Given the description of an element on the screen output the (x, y) to click on. 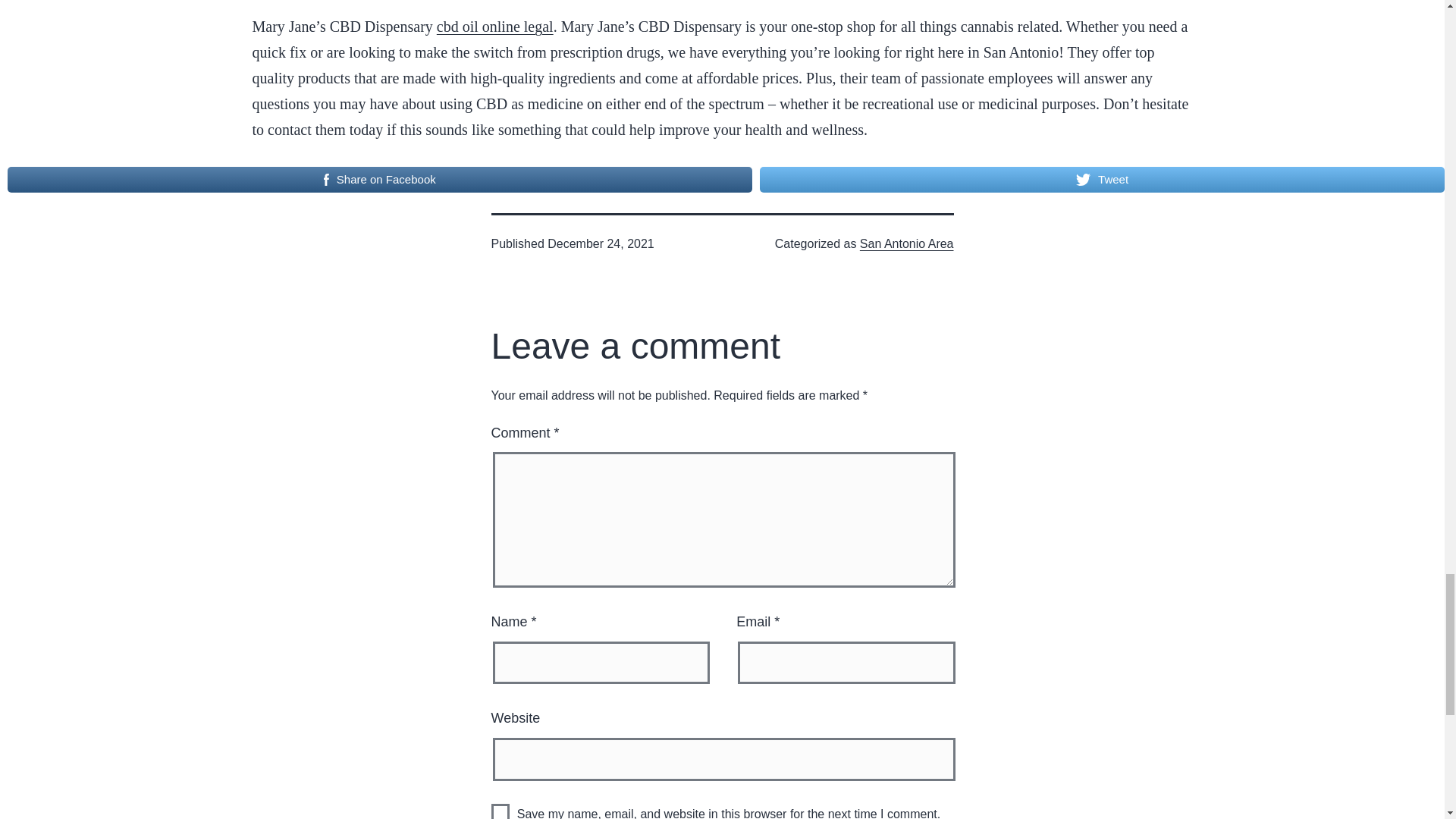
San Antonio Area (906, 243)
Share on Facebook (379, 179)
cbd oil online legal (494, 26)
yes (500, 811)
